Given the description of an element on the screen output the (x, y) to click on. 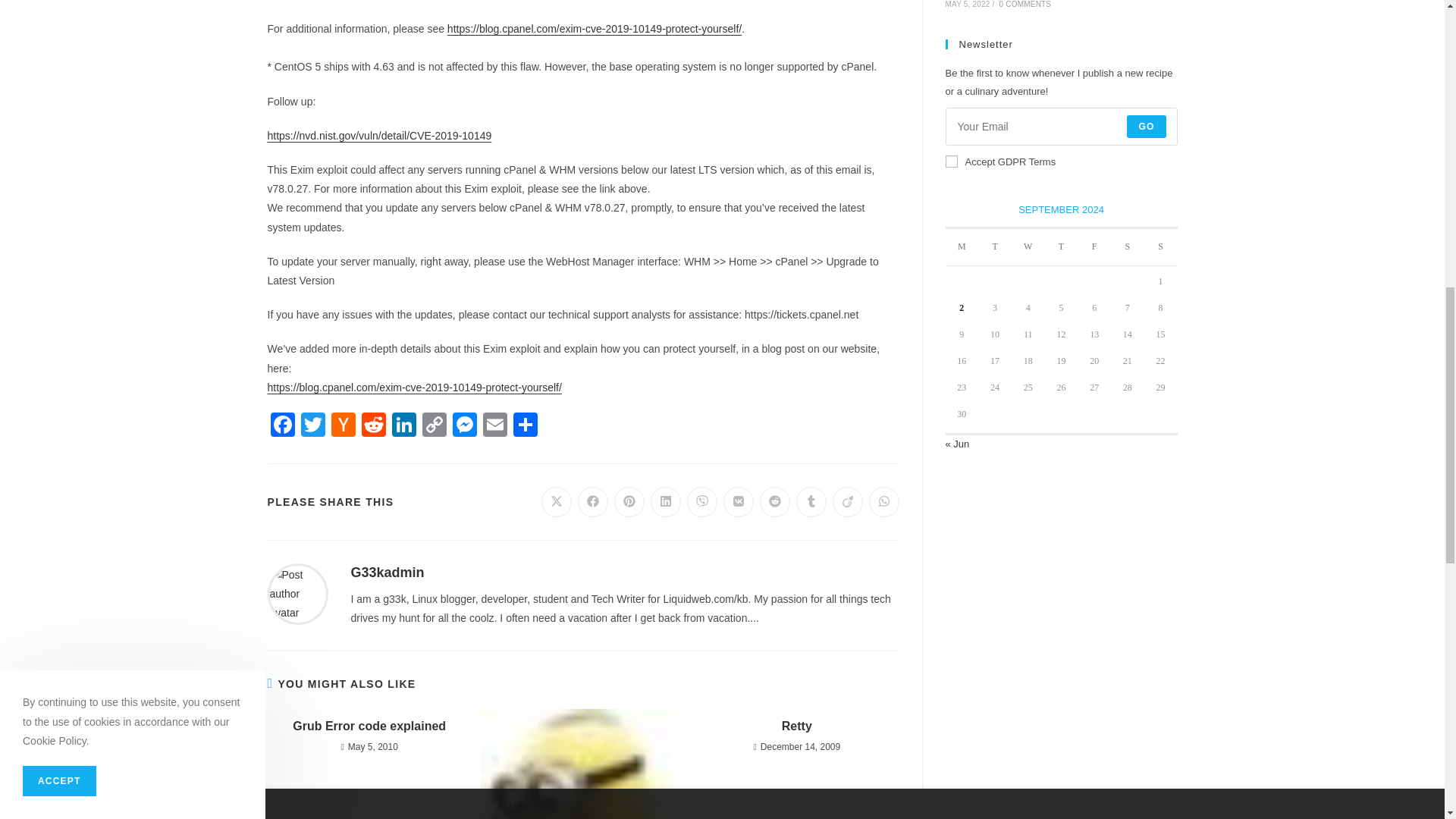
1 (950, 161)
Reddit (373, 426)
Thursday (1061, 247)
Facebook (281, 426)
Messenger (463, 426)
Visit author page (386, 572)
Tuesday (994, 247)
Copy Link (433, 426)
Visit author page (296, 592)
LinkedIn (403, 426)
